Given the description of an element on the screen output the (x, y) to click on. 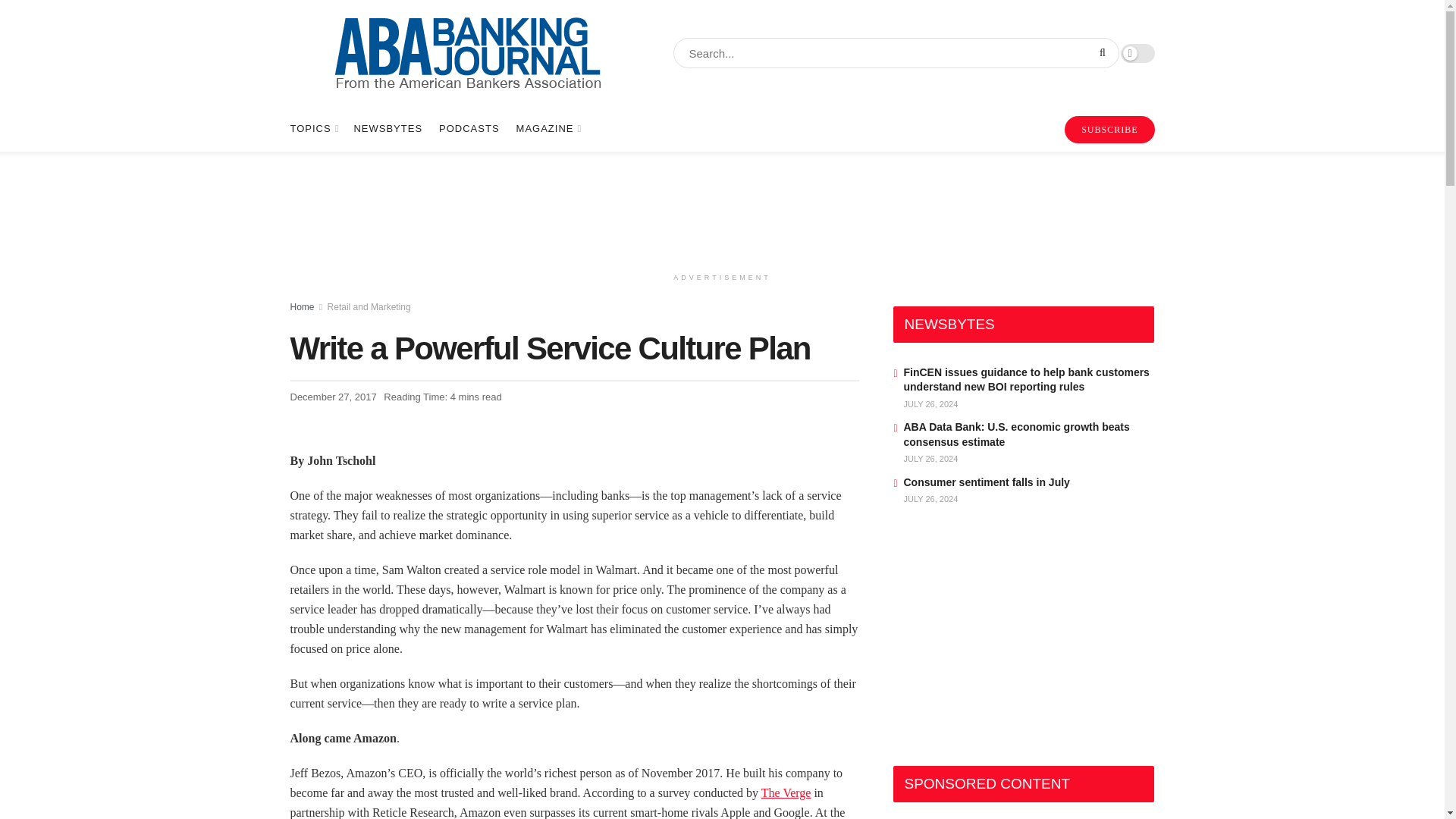
3rd party ad content (721, 208)
PODCASTS (469, 128)
3rd party ad content (1007, 640)
NEWSBYTES (387, 128)
MAGAZINE (547, 128)
TOPICS (312, 128)
SUBSCRIBE (1109, 129)
